Given the description of an element on the screen output the (x, y) to click on. 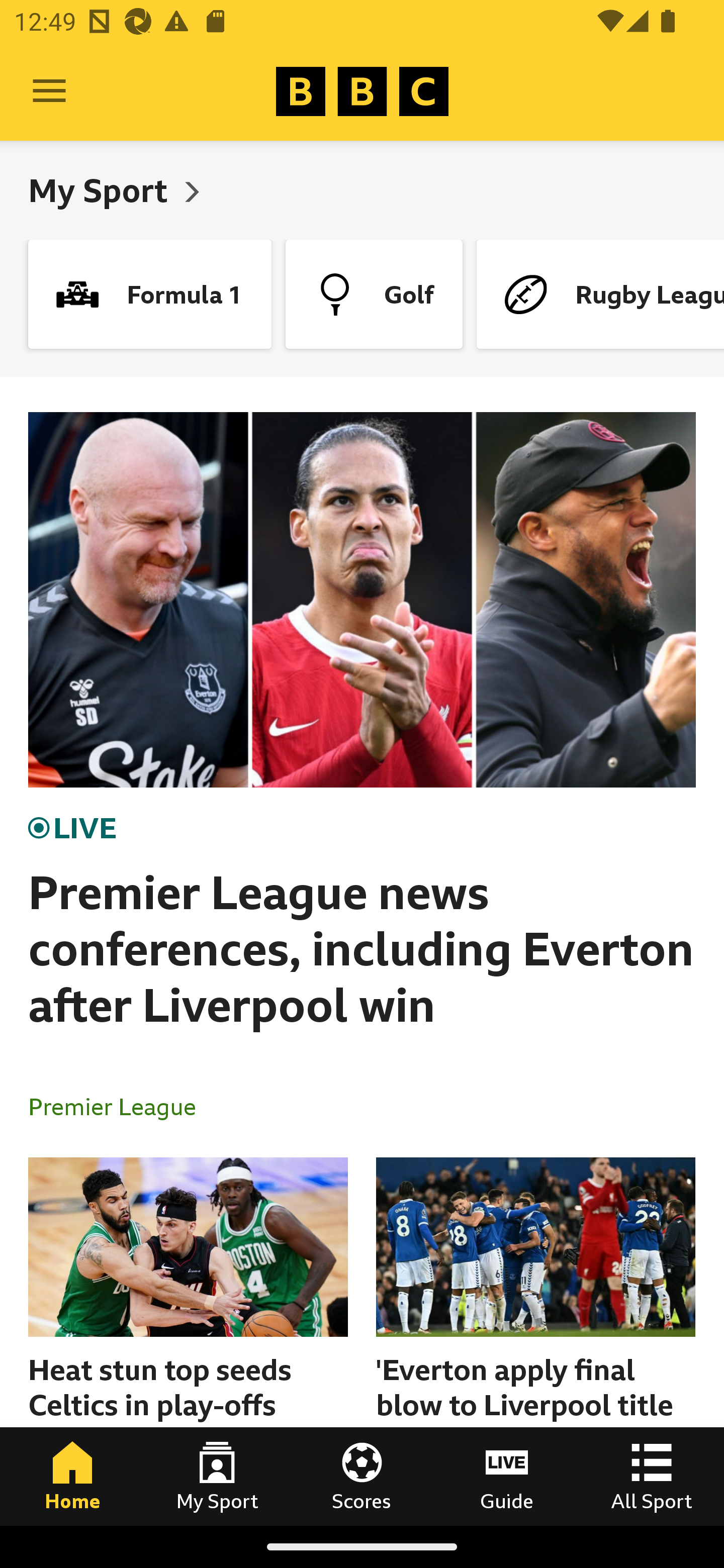
Open Menu (49, 91)
My Sport (101, 190)
Premier League In the section Premier League (119, 1106)
My Sport (216, 1475)
Scores (361, 1475)
Guide (506, 1475)
All Sport (651, 1475)
